Given the description of an element on the screen output the (x, y) to click on. 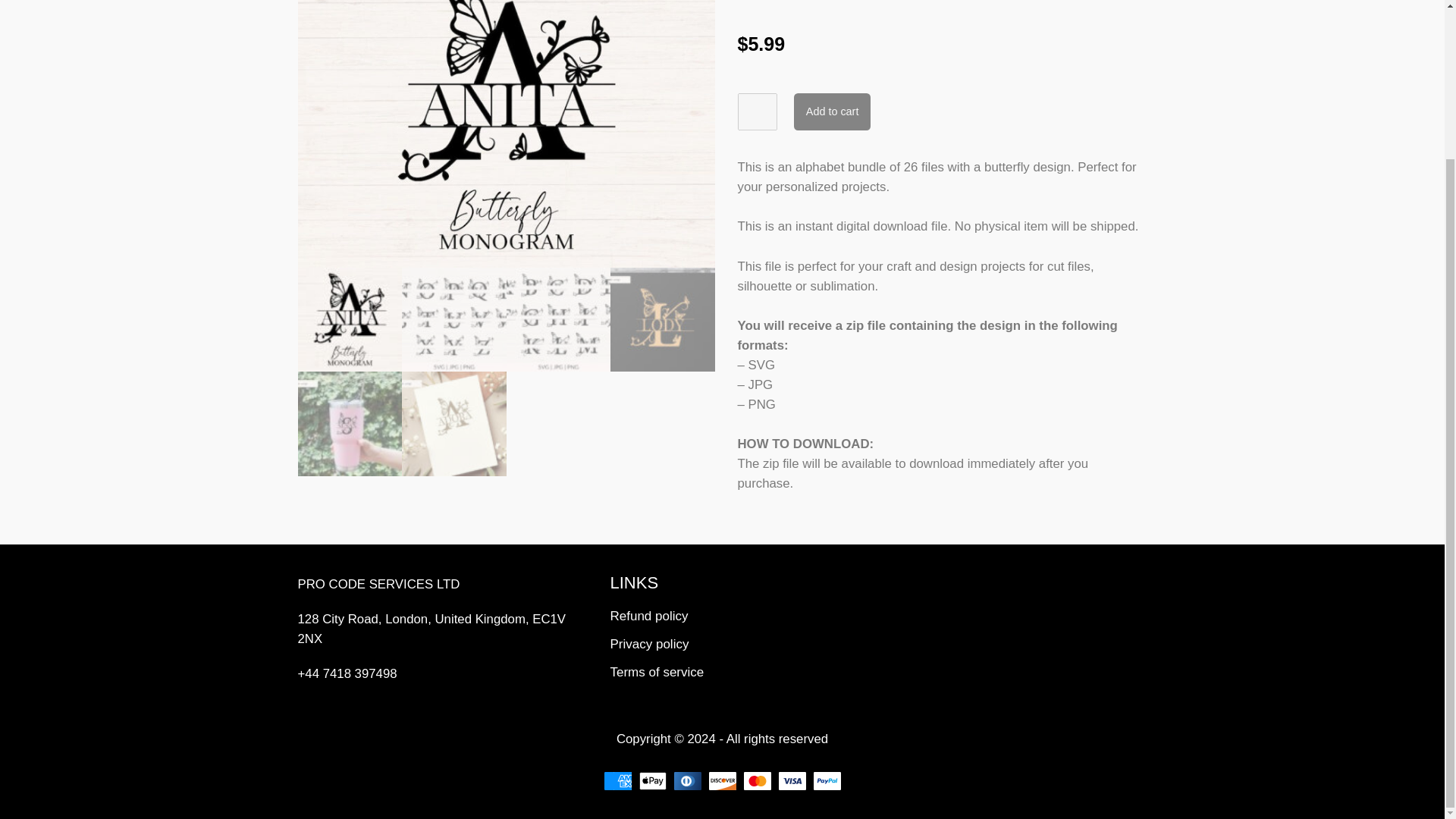
Add to cart (831, 111)
Privacy policy (734, 644)
Terms of service (734, 672)
1 (756, 111)
Refund policy (734, 616)
